Given the description of an element on the screen output the (x, y) to click on. 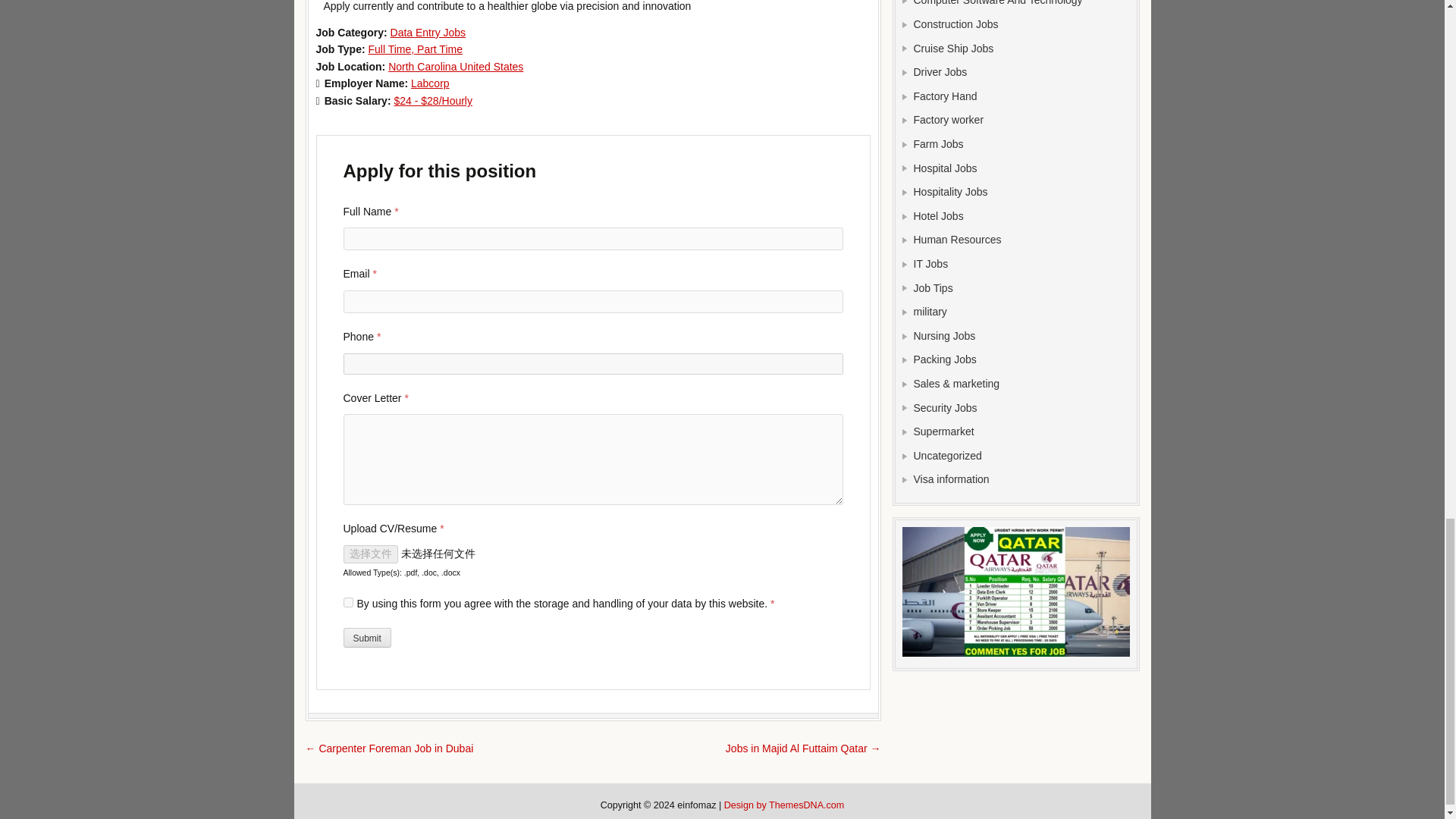
Submit (366, 637)
yes (347, 602)
Part Time (439, 49)
Labcorp (429, 82)
Submit (366, 637)
North Carolina United States (455, 66)
Data Entry Jobs (427, 32)
Full Time (392, 49)
